Given the description of an element on the screen output the (x, y) to click on. 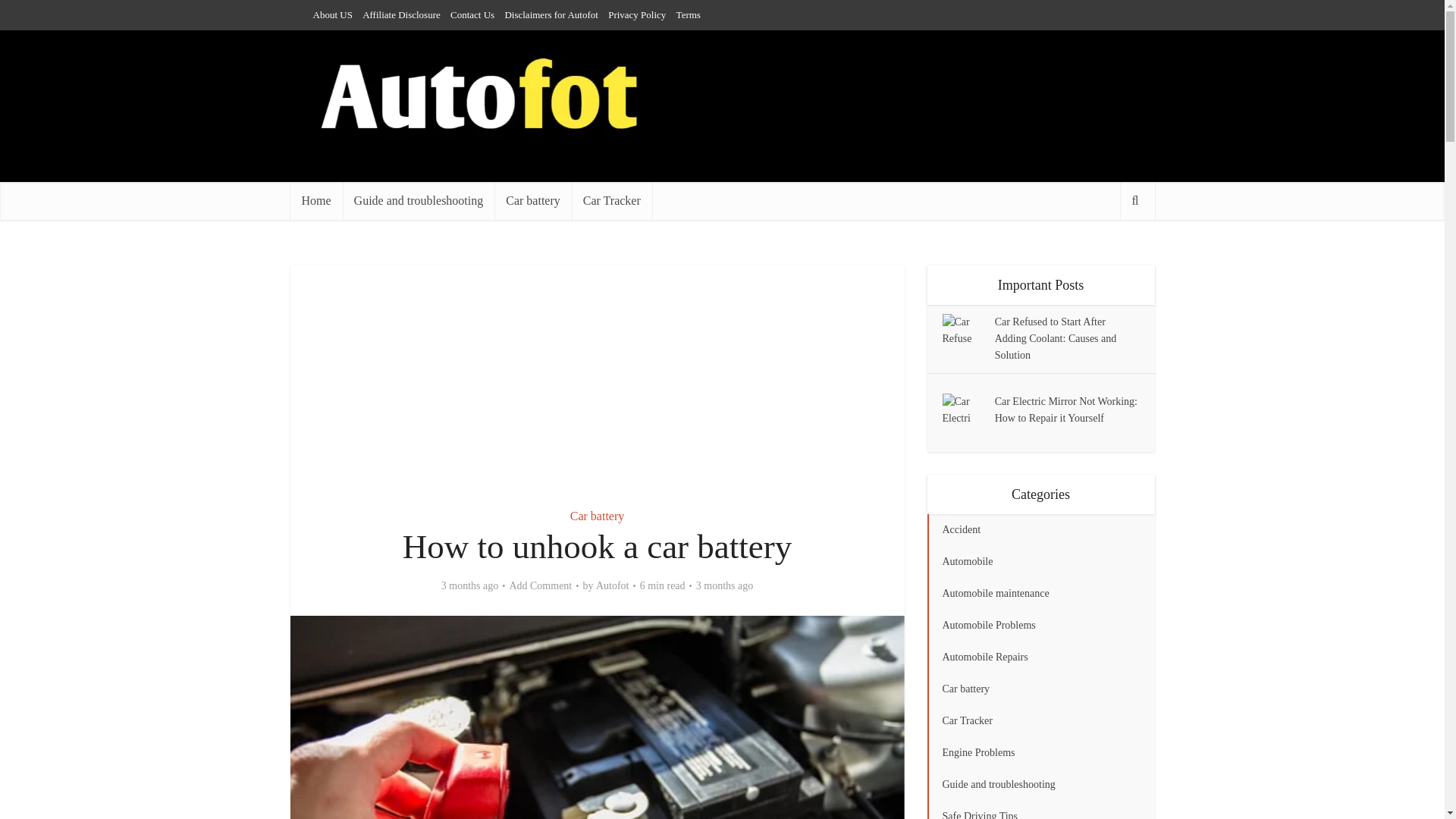
Contact Us (472, 14)
Disclaimers for Autofot (549, 14)
Car Tracker (612, 200)
Home (315, 200)
Car battery (533, 200)
Add Comment (540, 585)
Advertisement (596, 377)
Affiliate Disclosure (401, 14)
Car battery (597, 515)
Terms (688, 14)
